Given the description of an element on the screen output the (x, y) to click on. 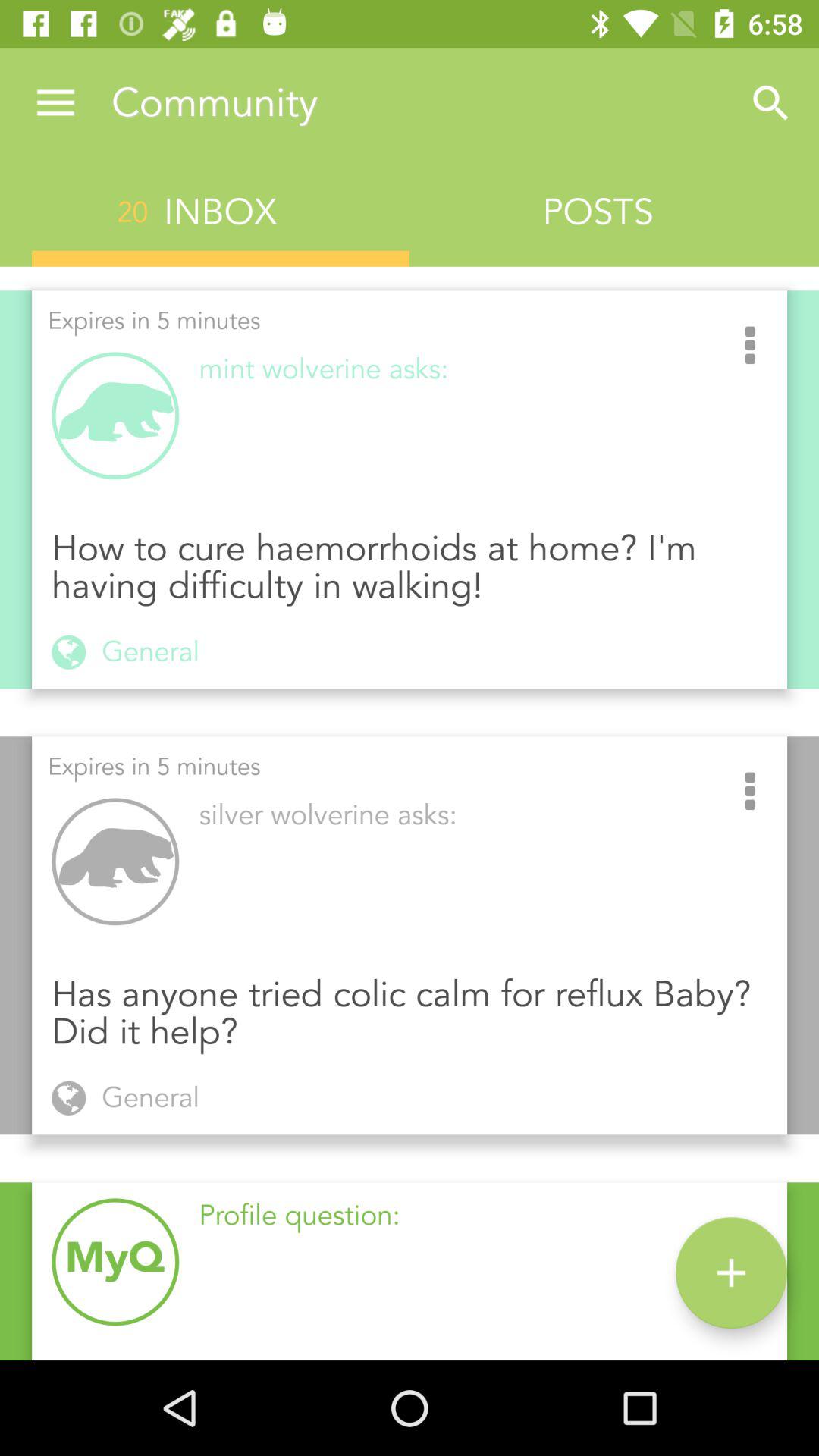
select the icon above 20 icon (55, 103)
